Given the description of an element on the screen output the (x, y) to click on. 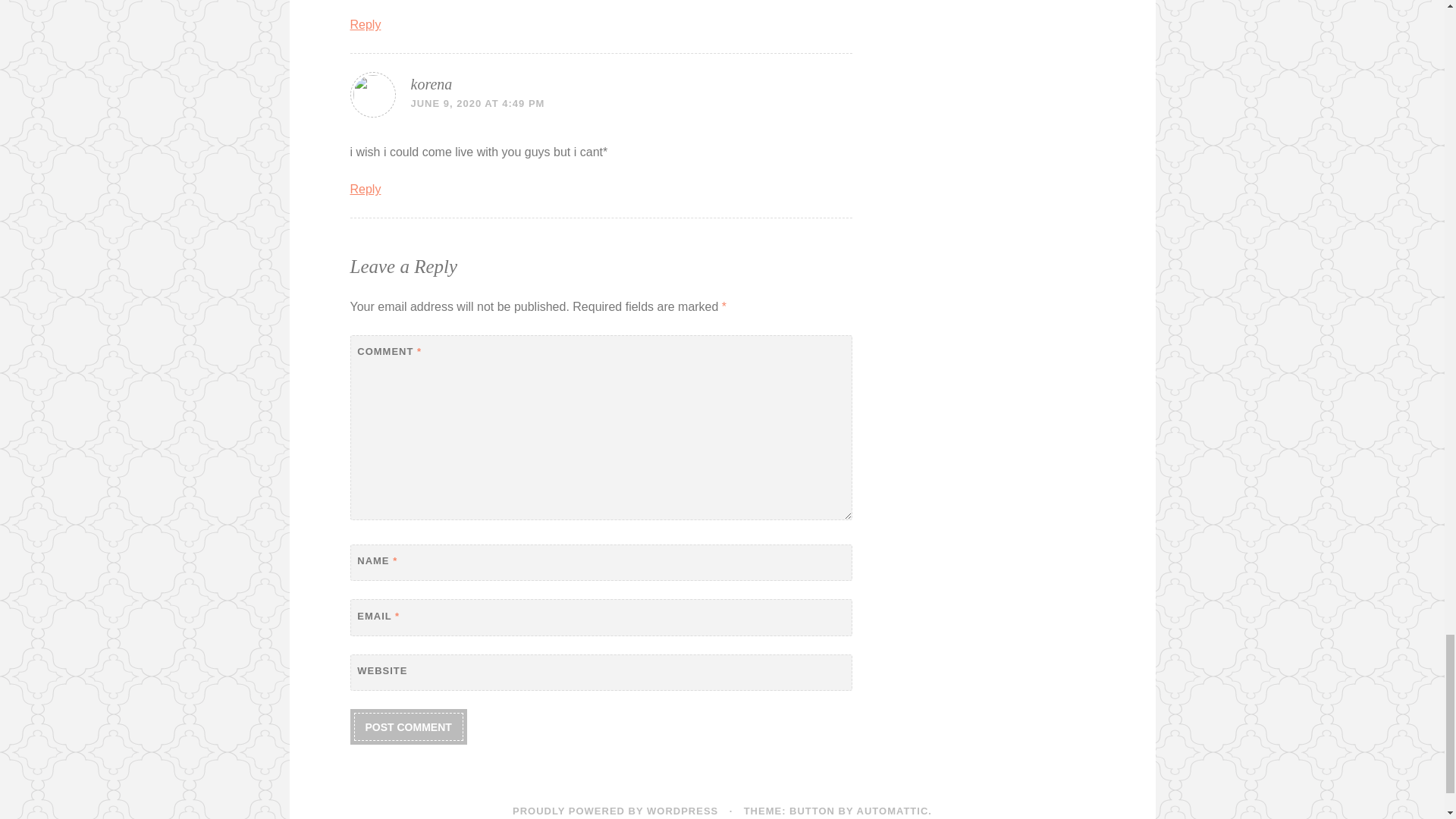
Reply (365, 24)
JUNE 9, 2020 AT 4:49 PM (477, 102)
Post Comment (408, 726)
Post Comment (408, 726)
Reply (365, 188)
PROUDLY POWERED BY WORDPRESS (614, 810)
